Given the description of an element on the screen output the (x, y) to click on. 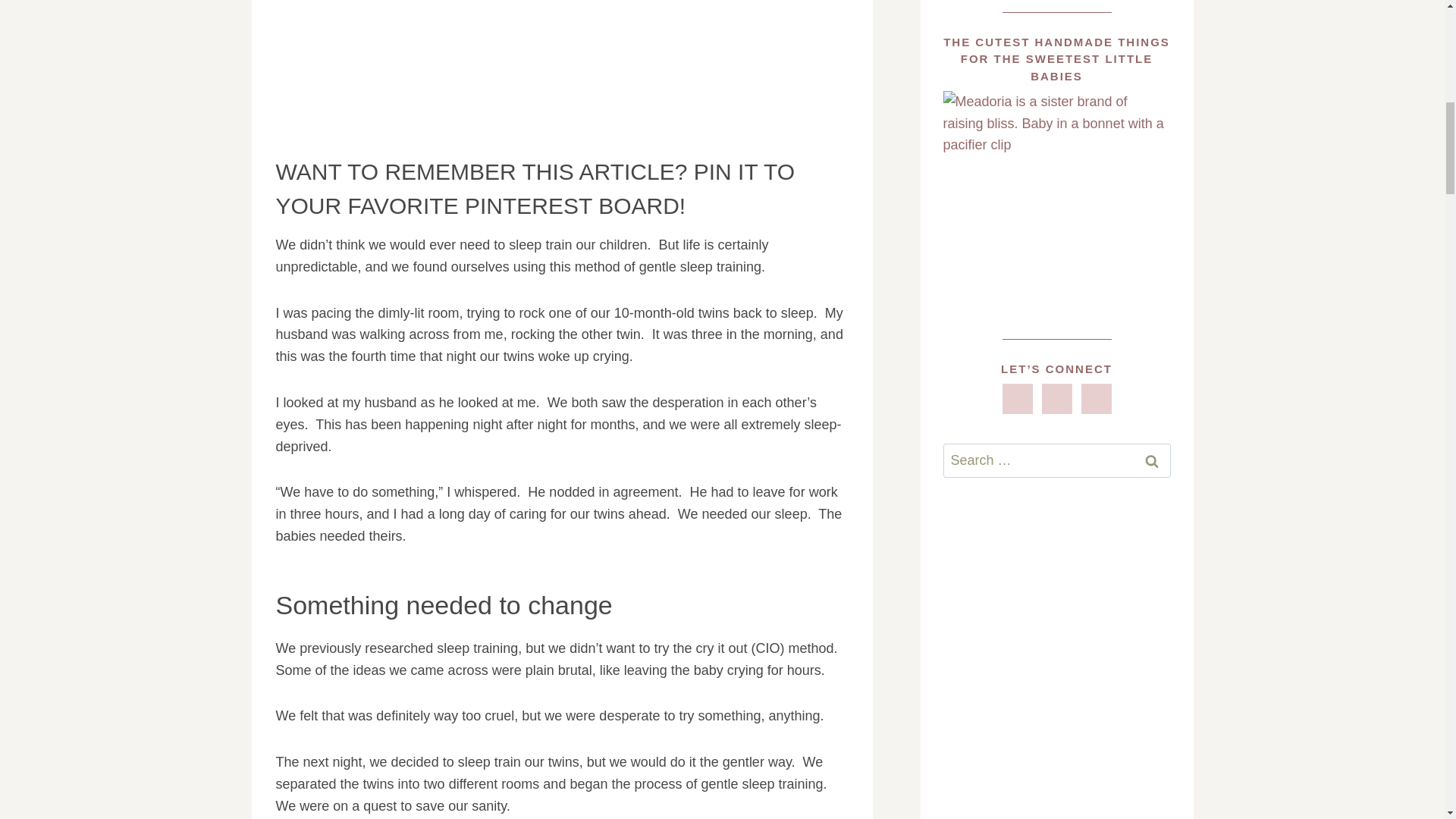
The Cutest Handmade Things for The Sweetest Little Babies (1056, 204)
Search (1151, 460)
Search (1151, 460)
